Given the description of an element on the screen output the (x, y) to click on. 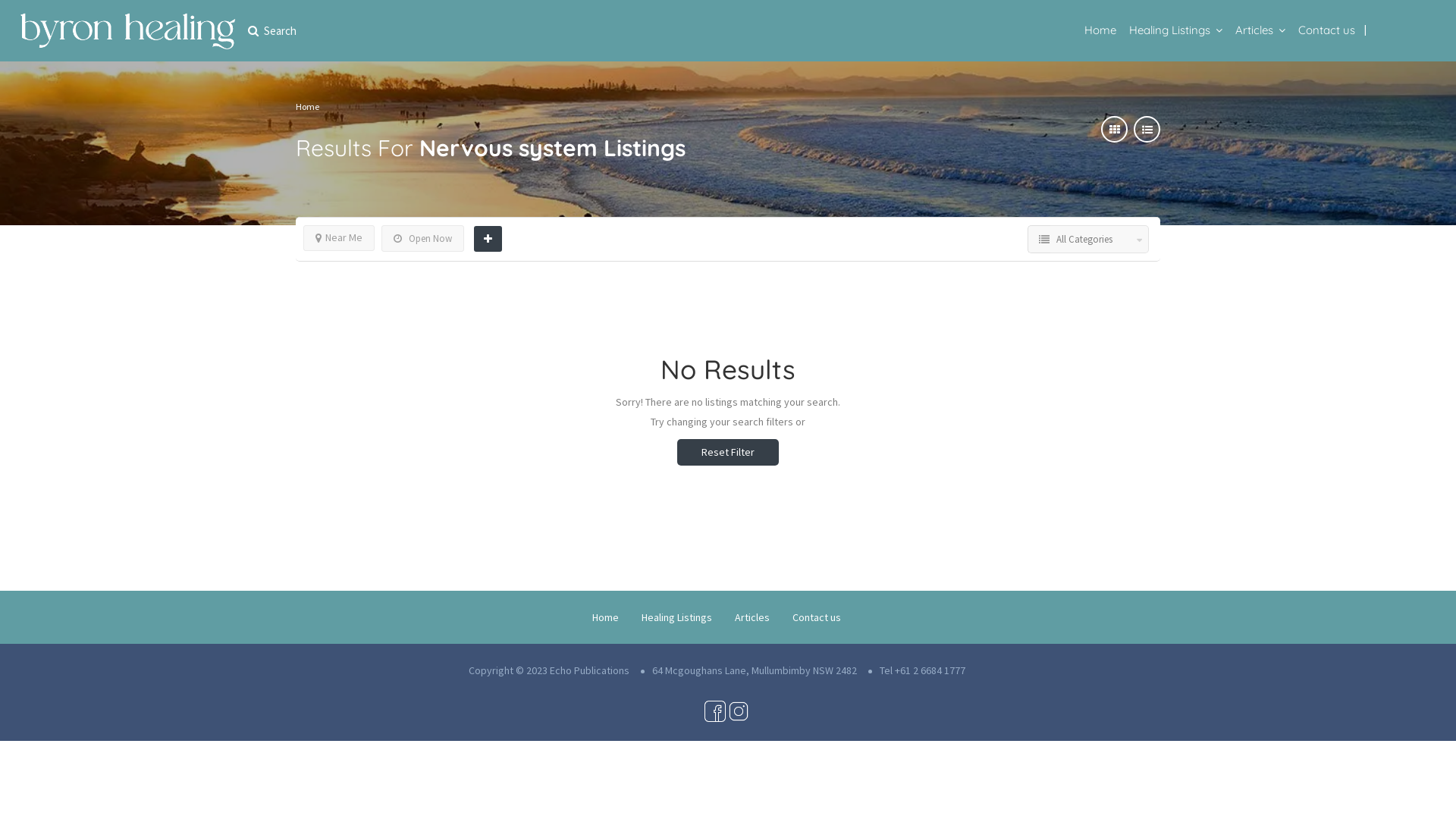
Healing Listings Element type: text (1169, 29)
Articles Element type: text (751, 617)
Contact us Element type: text (816, 617)
Healing Listings Element type: text (676, 617)
Reset Filter Element type: text (727, 452)
Home Element type: text (307, 106)
Near Me Element type: text (338, 238)
Home Element type: text (1100, 29)
Contact us Element type: text (1326, 29)
Articles Element type: text (1254, 29)
Open Now Element type: text (422, 238)
Home Element type: text (605, 617)
All Categories Element type: text (1099, 239)
